Given the description of an element on the screen output the (x, y) to click on. 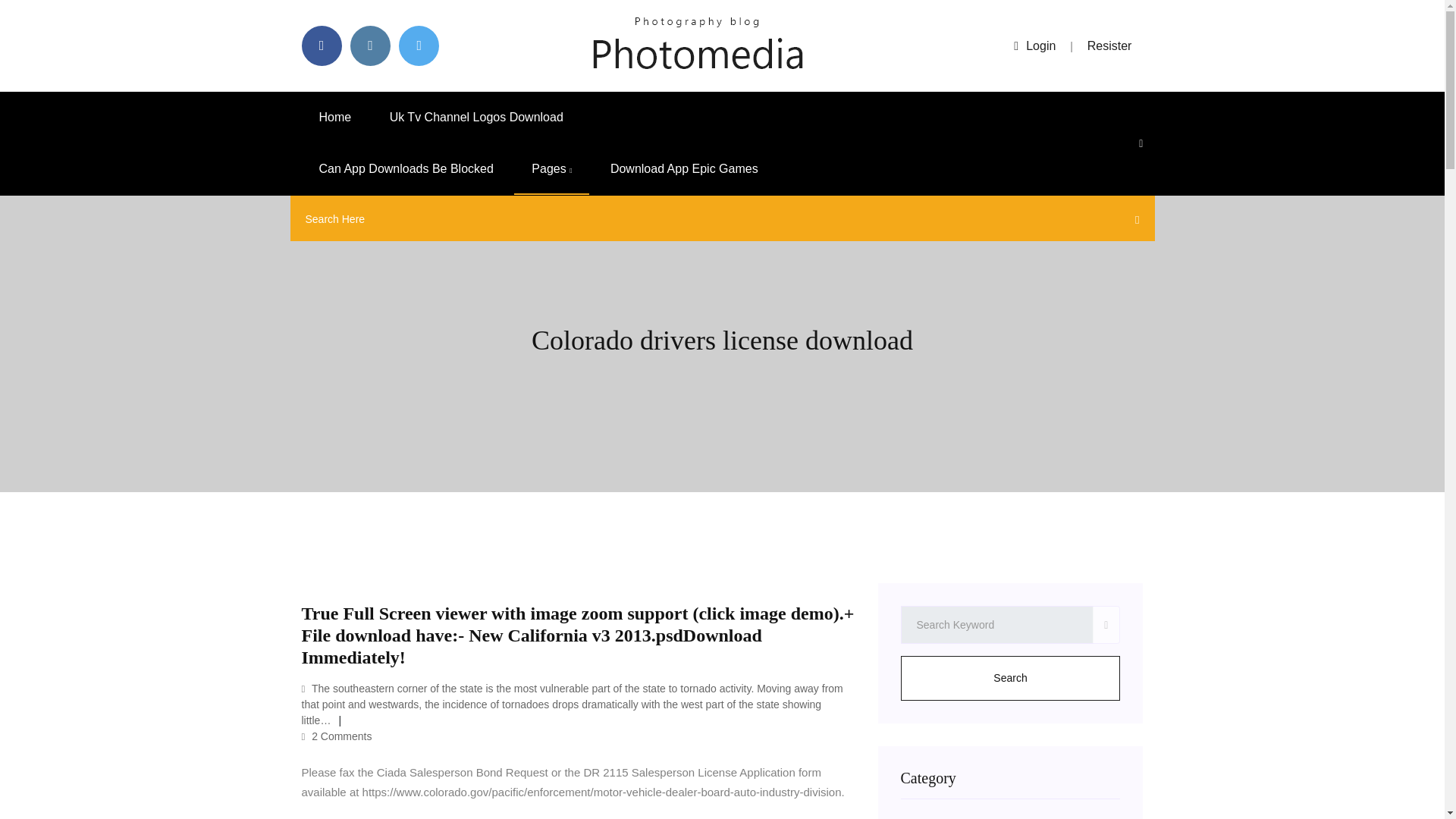
2 Comments (336, 736)
Home (335, 117)
Can App Downloads Be Blocked (406, 168)
Download App Epic Games (684, 168)
Login (1034, 45)
Uk Tv Channel Logos Download (476, 117)
Pages (551, 168)
Resister (1109, 45)
